Given the description of an element on the screen output the (x, y) to click on. 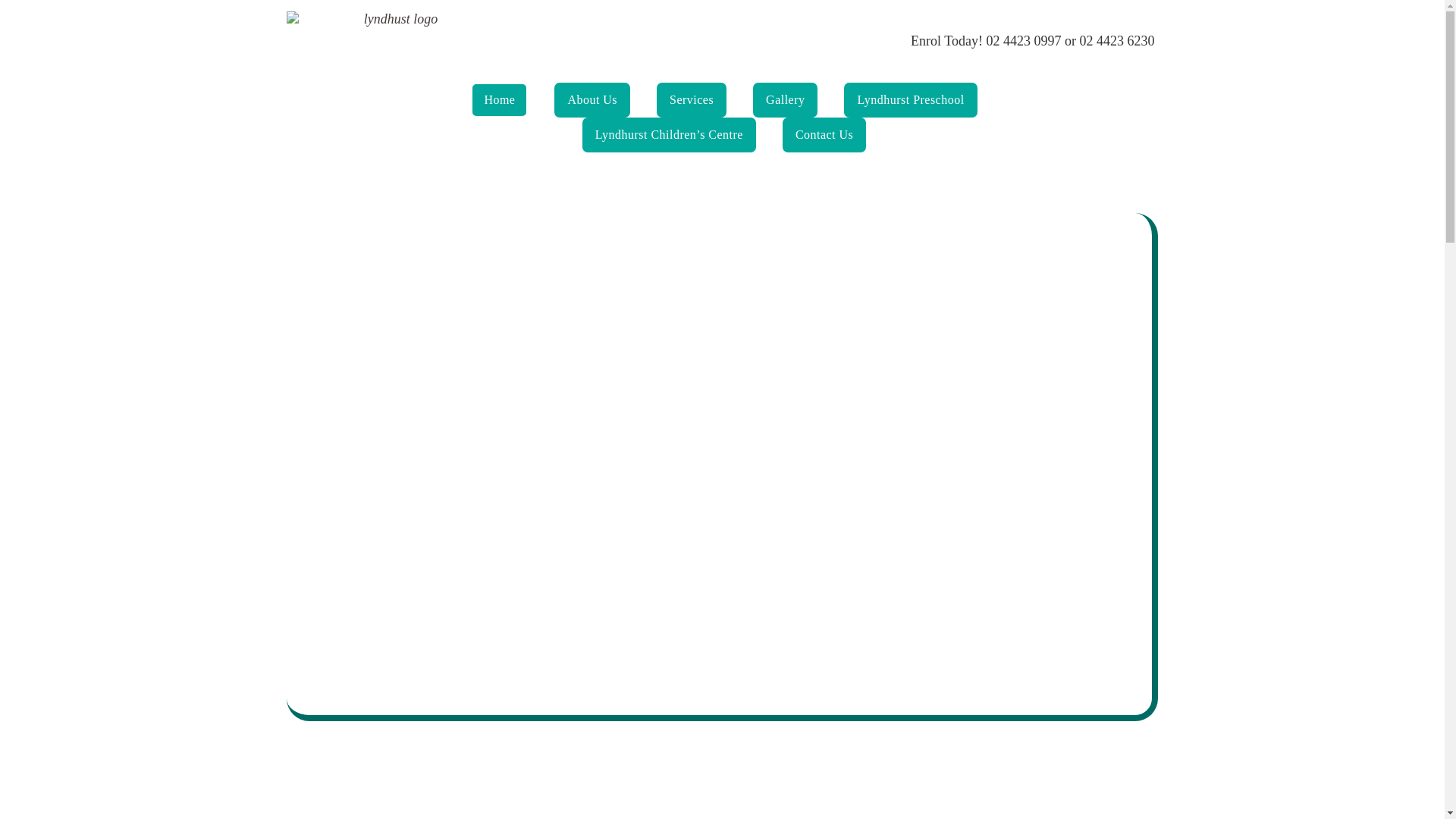
02 4423 0997 Element type: text (1022, 40)
About Us Element type: text (592, 99)
Lyndhurst Preschool Element type: text (910, 99)
Gallery Element type: text (785, 99)
Contact Us Element type: text (824, 134)
Home Element type: text (498, 99)
02 4423 6230 Element type: text (1116, 40)
Services Element type: text (691, 99)
